Given the description of an element on the screen output the (x, y) to click on. 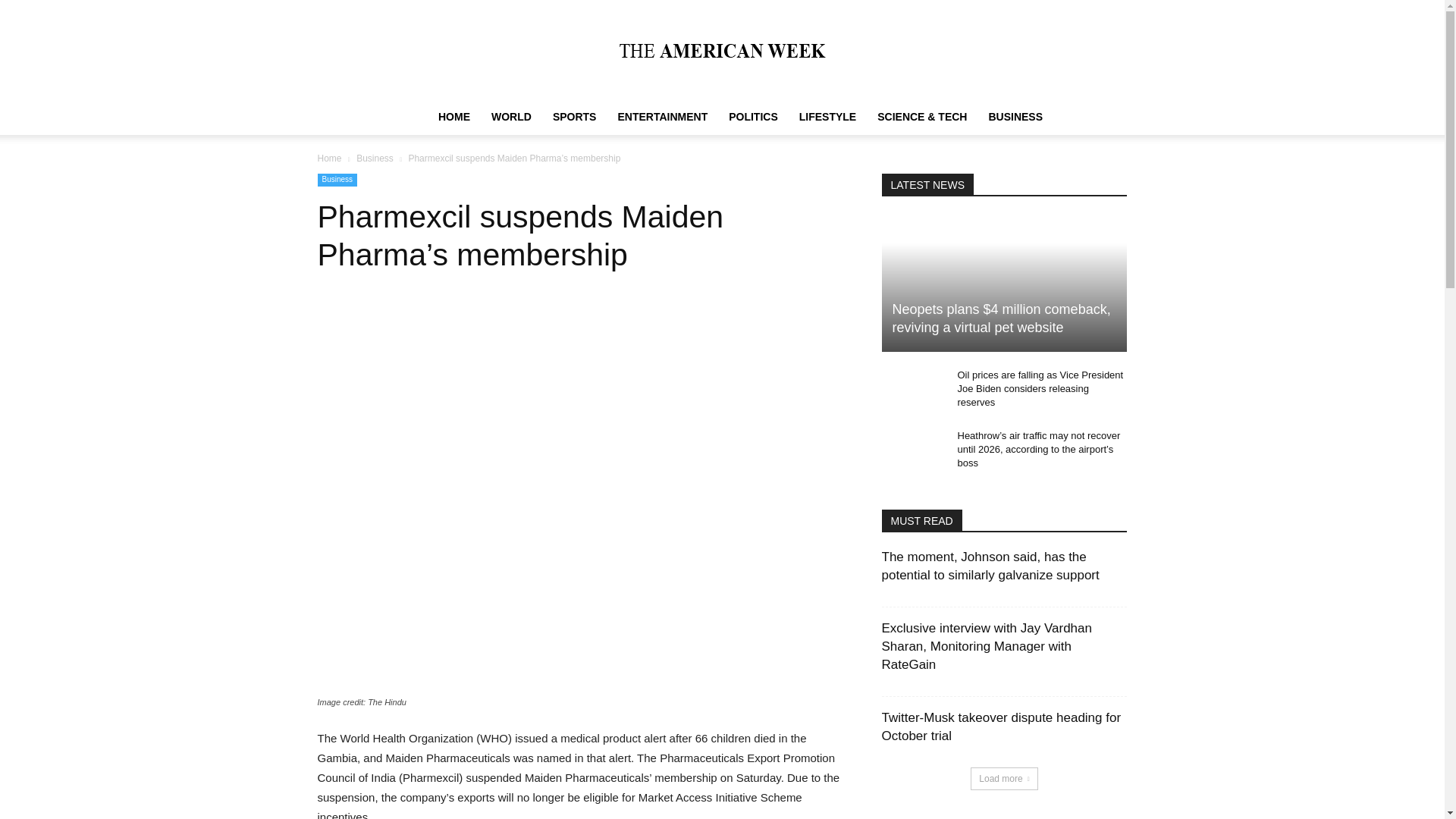
SPORTS (574, 116)
WORLD (510, 116)
POLITICS (753, 116)
BUSINESS (1014, 116)
ENTERTAINMENT (662, 116)
Business (336, 179)
Business (374, 158)
HOME (454, 116)
Home (328, 158)
LIFESTYLE (827, 116)
